Given the description of an element on the screen output the (x, y) to click on. 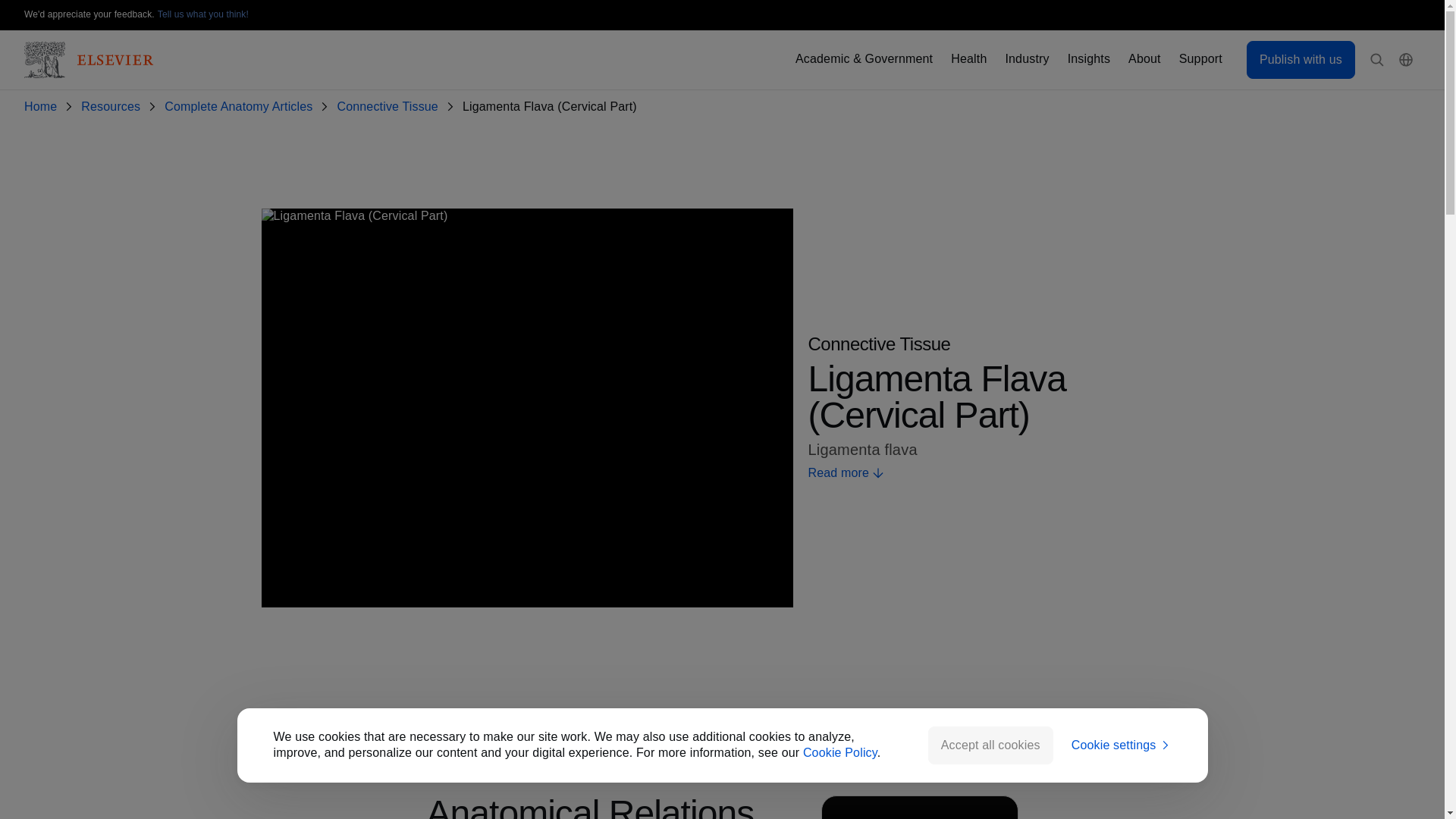
Cookie settings (1121, 745)
Cookie Policy (840, 752)
Insights (1088, 59)
Accept all cookies (990, 745)
Health (968, 59)
About (1144, 59)
Industry (1026, 59)
Anatomical Relations (622, 720)
Function (761, 720)
Read more (995, 473)
